Given the description of an element on the screen output the (x, y) to click on. 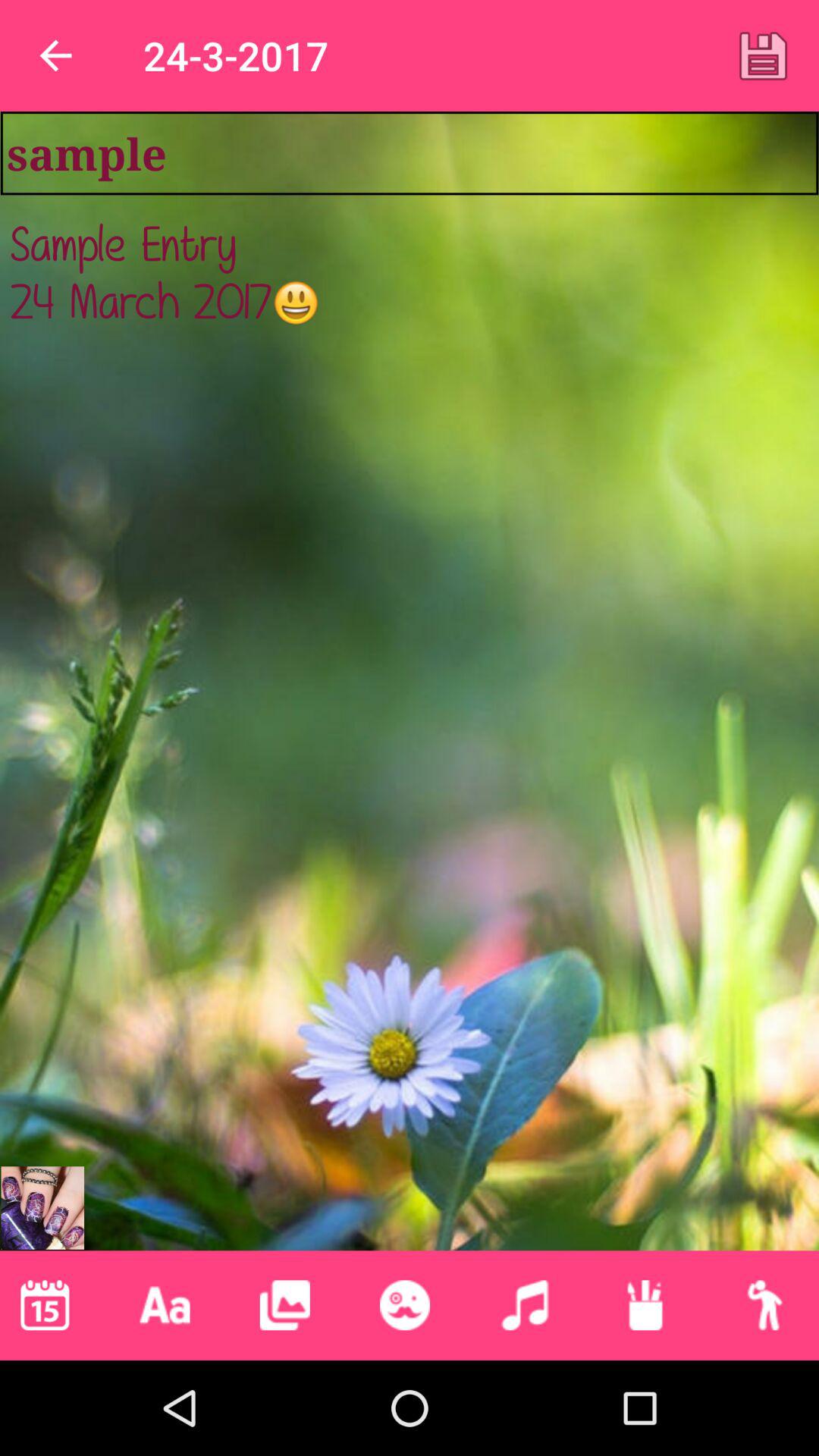
tap the sample entry 24 (409, 689)
